Given the description of an element on the screen output the (x, y) to click on. 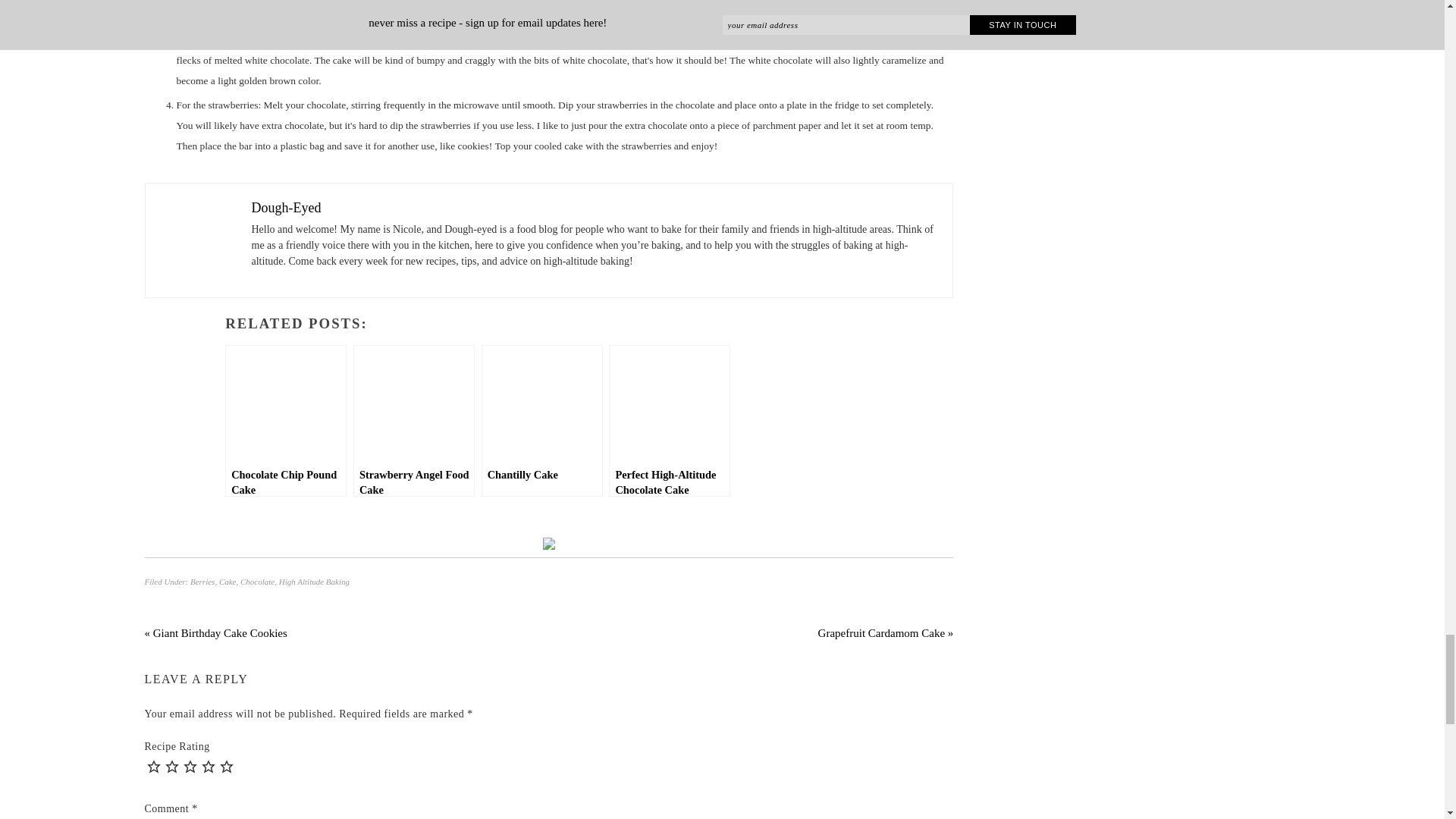
Chocolate (257, 581)
Dough-Eyed (286, 207)
Berries (202, 581)
Cake (227, 581)
High Altitude Baking (314, 581)
